Given the description of an element on the screen output the (x, y) to click on. 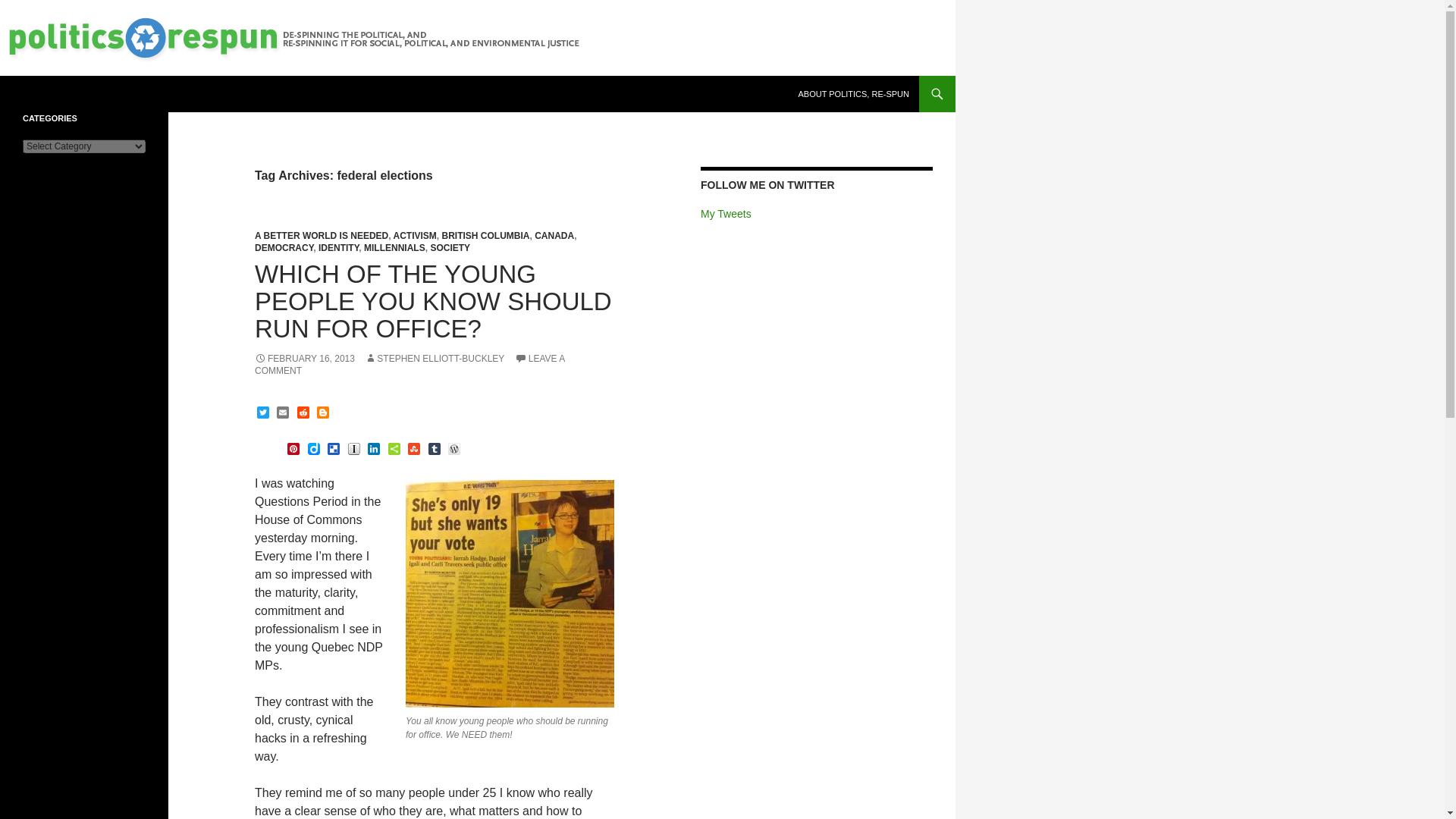
A BETTER WORLD IS NEEDED (321, 235)
Politics, Re-Spun (79, 94)
FEBRUARY 16, 2013 (304, 357)
MILLENNIALS (394, 247)
DEMOCRACY (283, 247)
SOCIETY (449, 247)
WHICH OF THE YOUNG PEOPLE YOU KNOW SHOULD RUN FOR OFFICE? (432, 301)
ABOUT POLITICS, RE-SPUN (853, 94)
STEPHEN ELLIOTT-BUCKLEY (434, 357)
BRITISH COLUMBIA (485, 235)
CANADA (553, 235)
My Tweets (725, 214)
ACTIVISM (414, 235)
IDENTITY (338, 247)
